Given the description of an element on the screen output the (x, y) to click on. 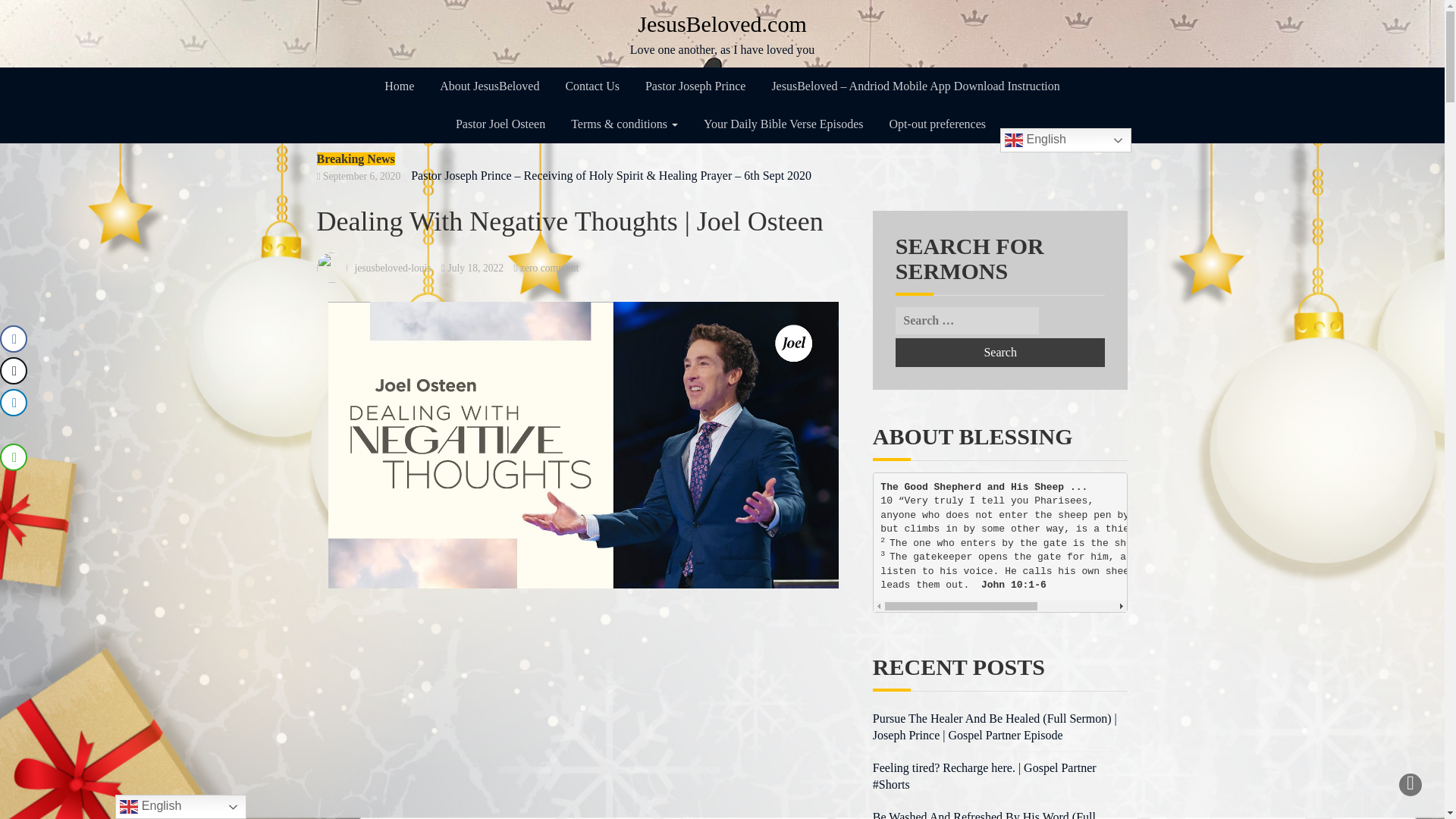
July 18, 2022 (474, 267)
Pastor Joseph Prince (695, 86)
Home (398, 86)
Home (398, 86)
Pastor Joel Osteen (500, 124)
jesusbeloved-louis (722, 33)
Opt-out preferences (392, 267)
English (937, 124)
About JesusBeloved (1065, 139)
zero comment (489, 86)
Your Daily Bible Verse Episodes (548, 267)
Search (784, 124)
Contact Us (1000, 352)
About JesusBeloved (591, 86)
